Given the description of an element on the screen output the (x, y) to click on. 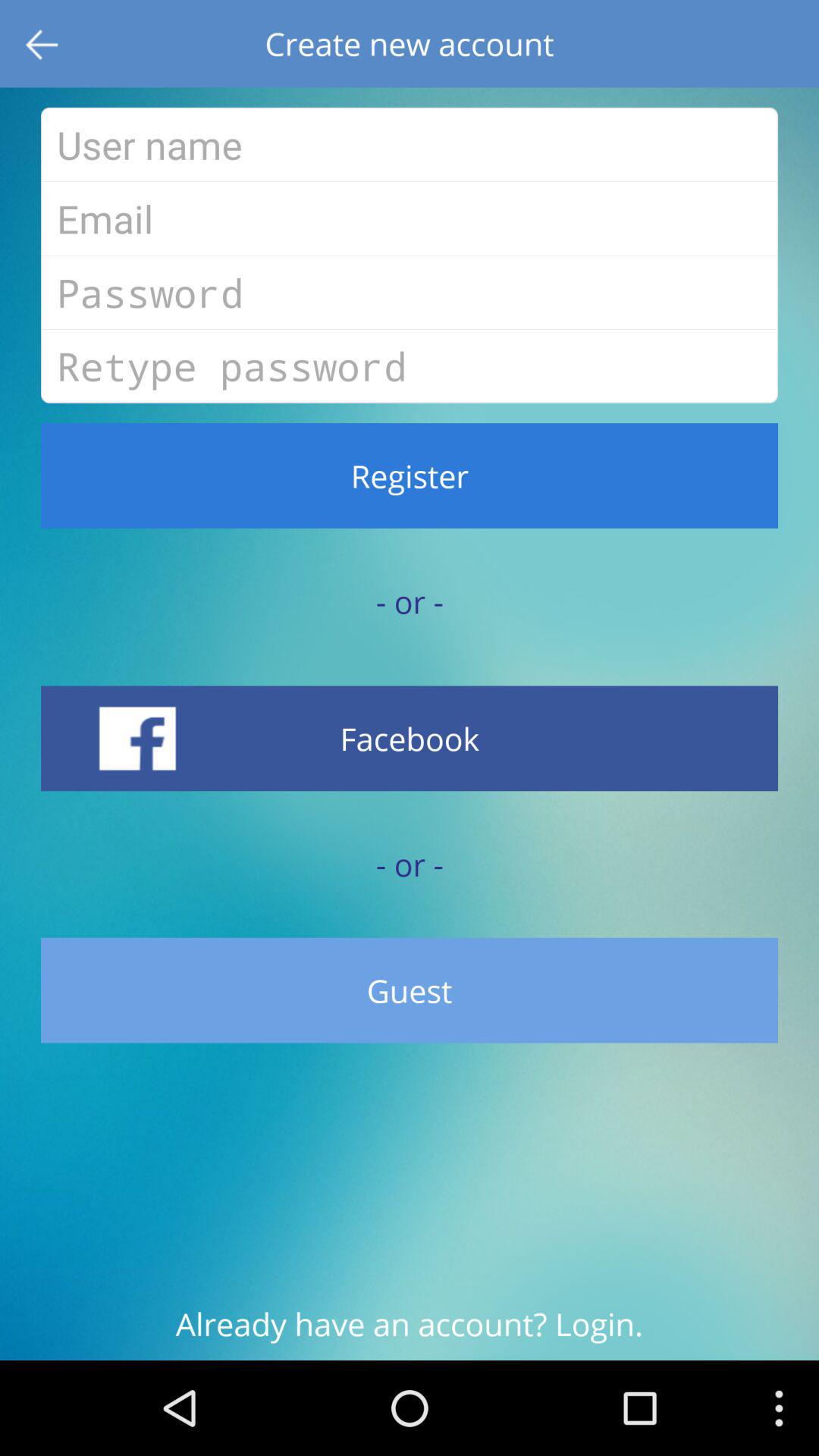
select icon above already have an (409, 990)
